Given the description of an element on the screen output the (x, y) to click on. 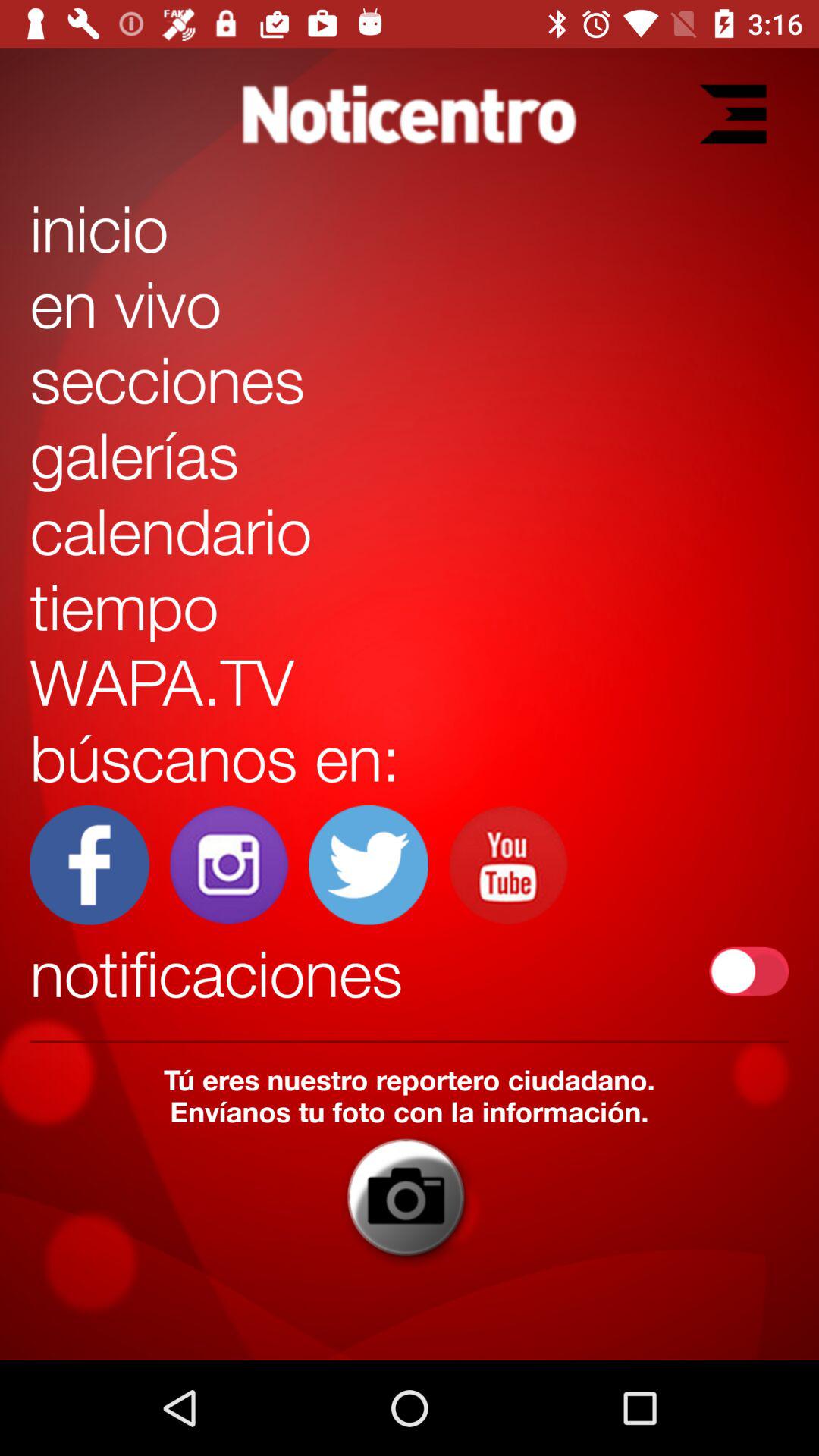
visit youtube (507, 864)
